Given the description of an element on the screen output the (x, y) to click on. 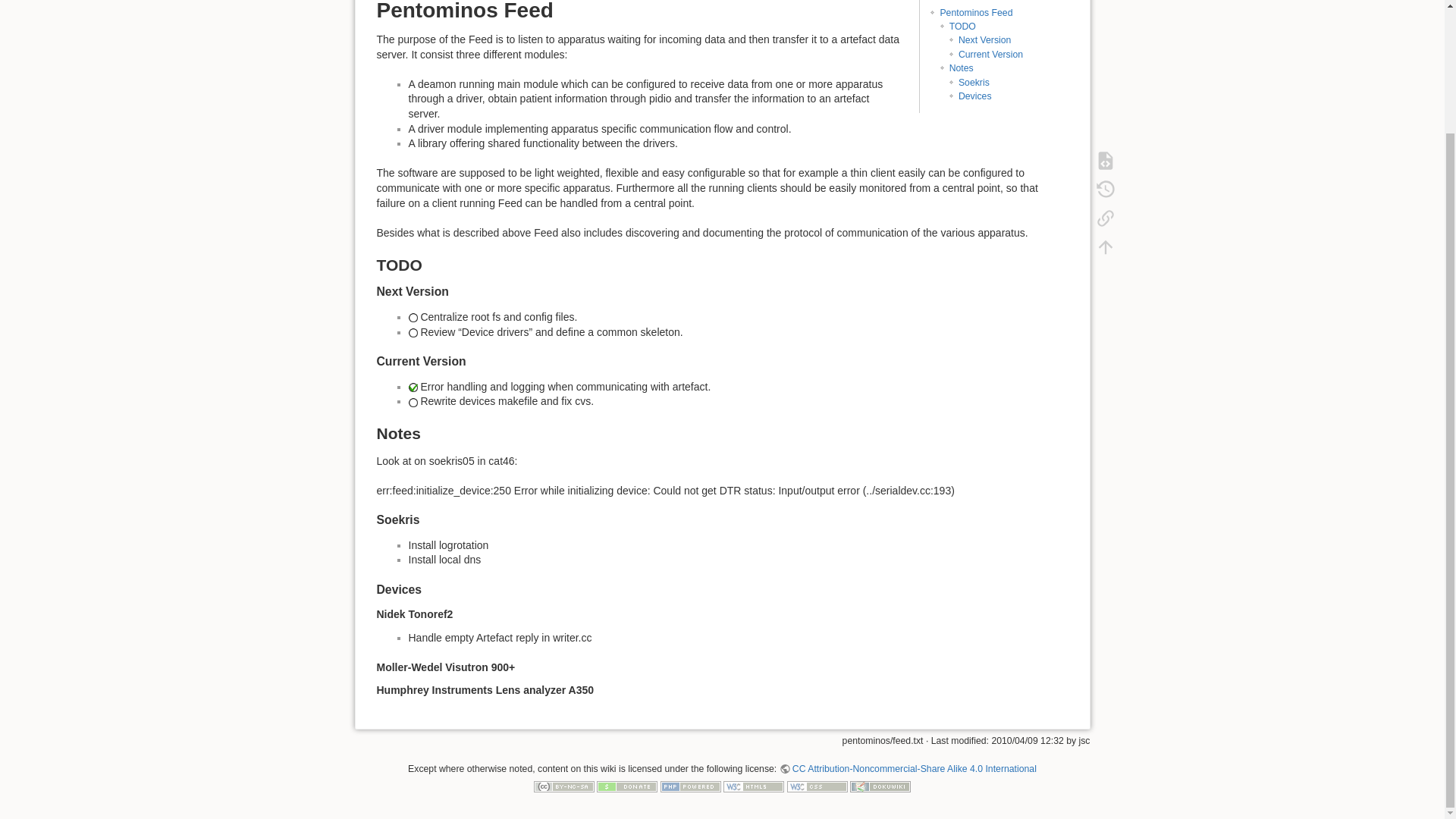
Devices (974, 95)
Notes (961, 68)
TODO (962, 26)
Soekris (974, 81)
Current Version (990, 54)
Next Version (984, 40)
Pentominos Feed (975, 12)
CC Attribution-Noncommercial-Share Alike 4.0 International (907, 768)
